Given the description of an element on the screen output the (x, y) to click on. 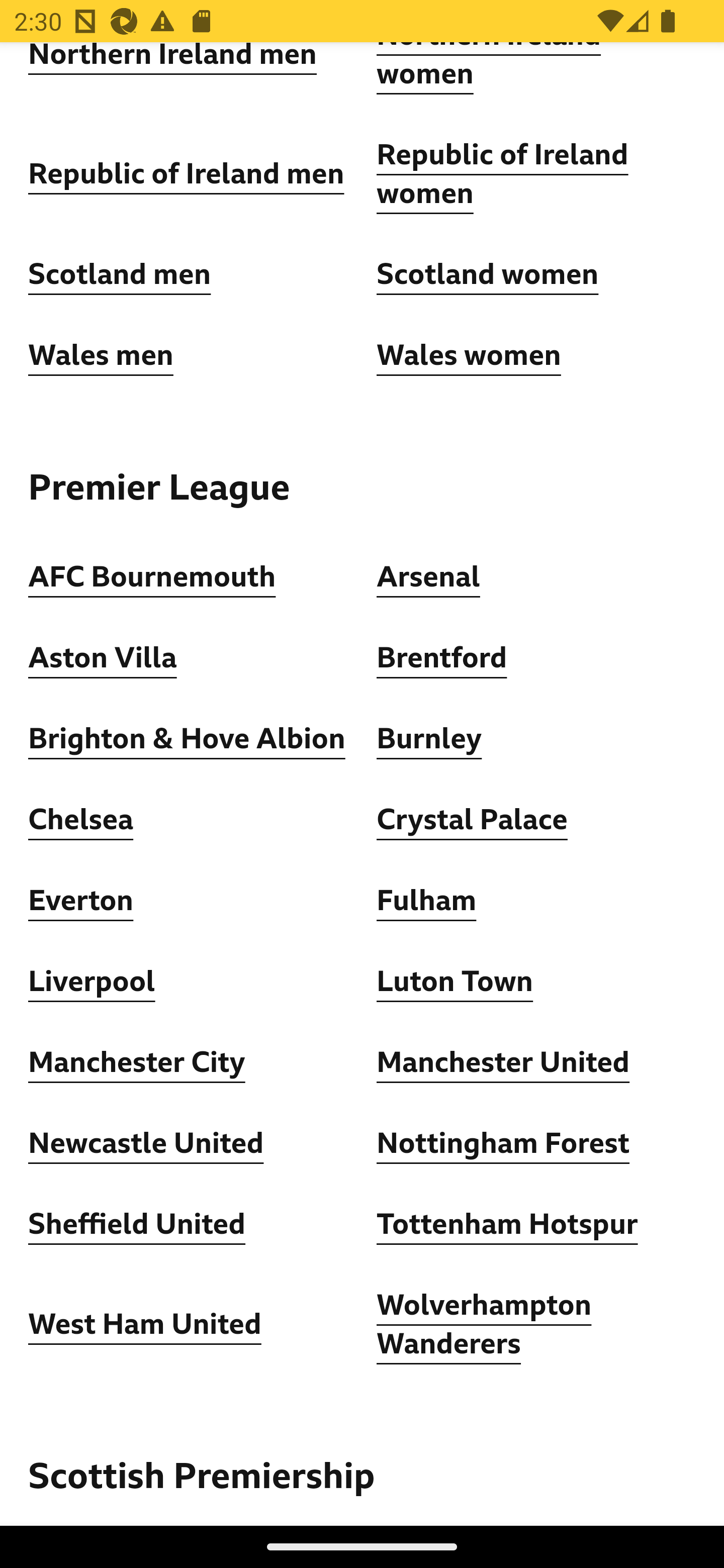
Northern Ireland men (173, 58)
Northern Ireland women (488, 67)
Republic of Ireland women (502, 175)
Republic of Ireland men (186, 175)
Scotland men (120, 275)
Scotland women (487, 275)
Wales men (100, 356)
Wales women (468, 356)
AFC Bournemouth (151, 578)
Arsenal (428, 578)
Aston Villa (102, 659)
Brentford (442, 659)
Brighton & Hove Albion (187, 739)
Burnley (429, 739)
Chelsea (80, 820)
Crystal Palace (472, 820)
Everton (80, 902)
Fulham (426, 902)
Liverpool (92, 982)
Luton Town (455, 982)
Manchester City (137, 1063)
Manchester United (503, 1063)
Newcastle United (146, 1144)
Nottingham Forest (503, 1144)
Sheffield United (137, 1225)
Tottenham Hotspur (507, 1225)
Wolverhampton Wanderers (484, 1325)
West Ham United (145, 1326)
